Given the description of an element on the screen output the (x, y) to click on. 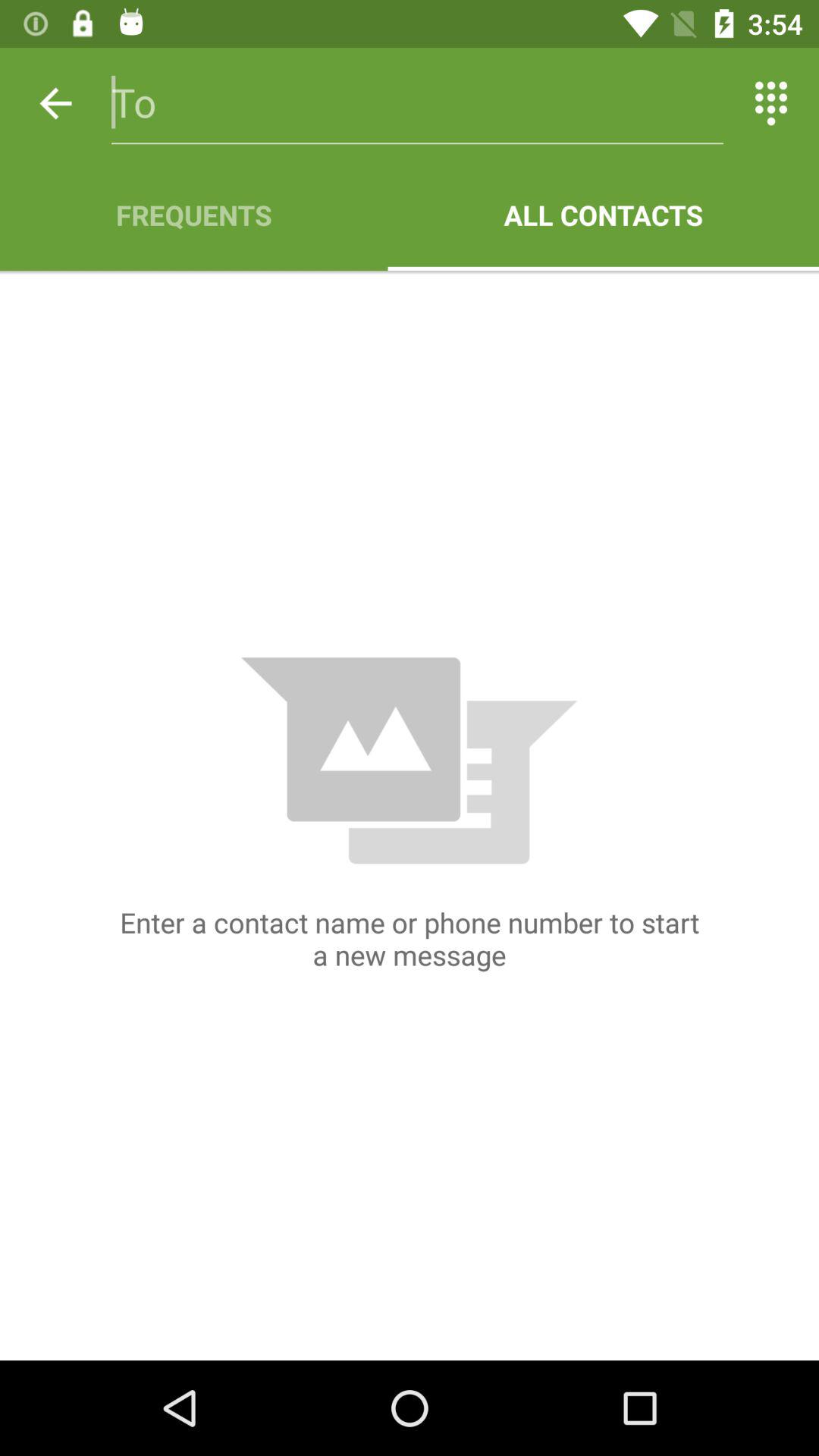
tap the app next to the frequents icon (603, 214)
